Given the description of an element on the screen output the (x, y) to click on. 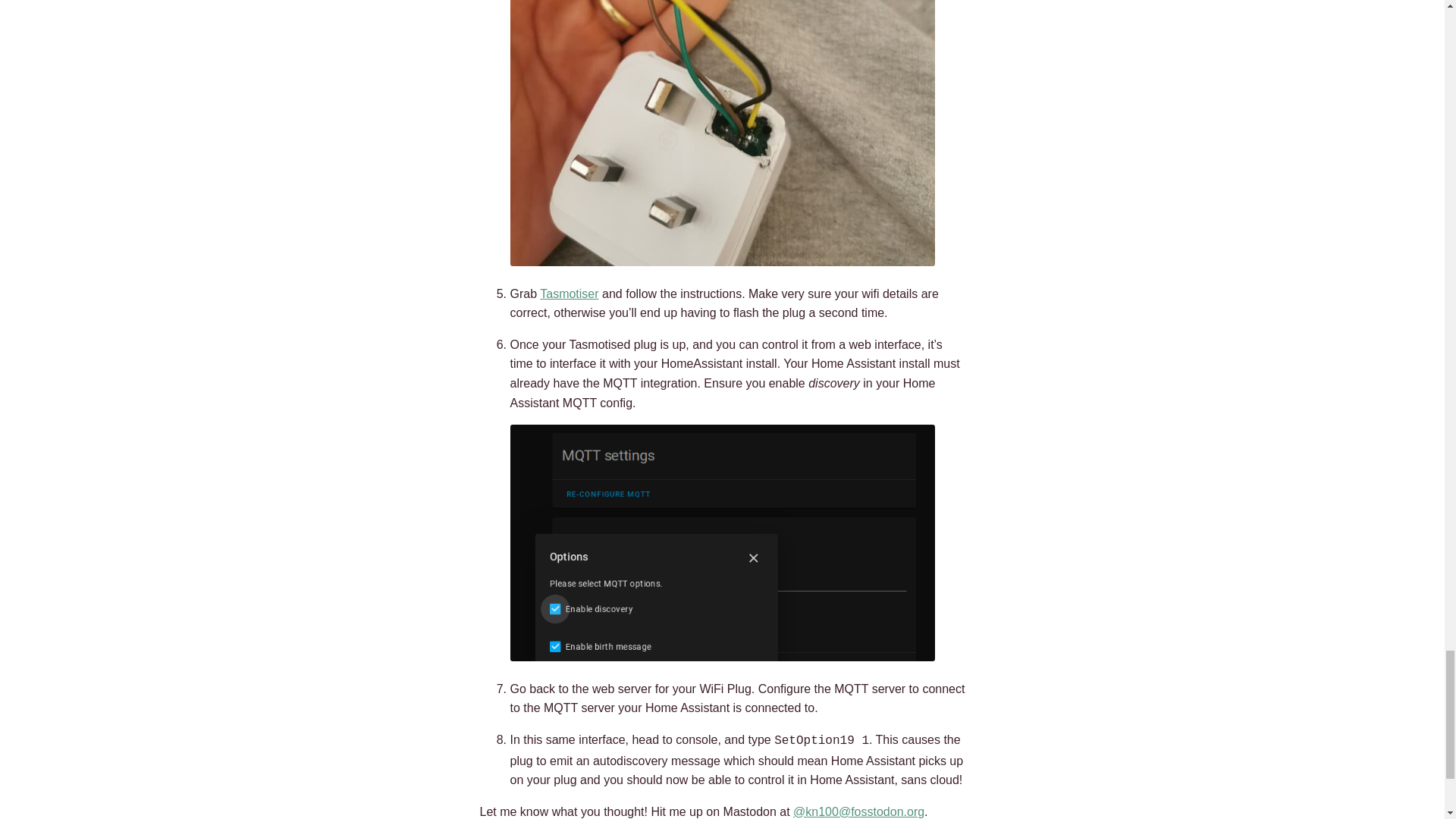
plug-mqtt-discovery (721, 542)
plug-serial (721, 133)
Tasmotiser (569, 293)
